Given the description of an element on the screen output the (x, y) to click on. 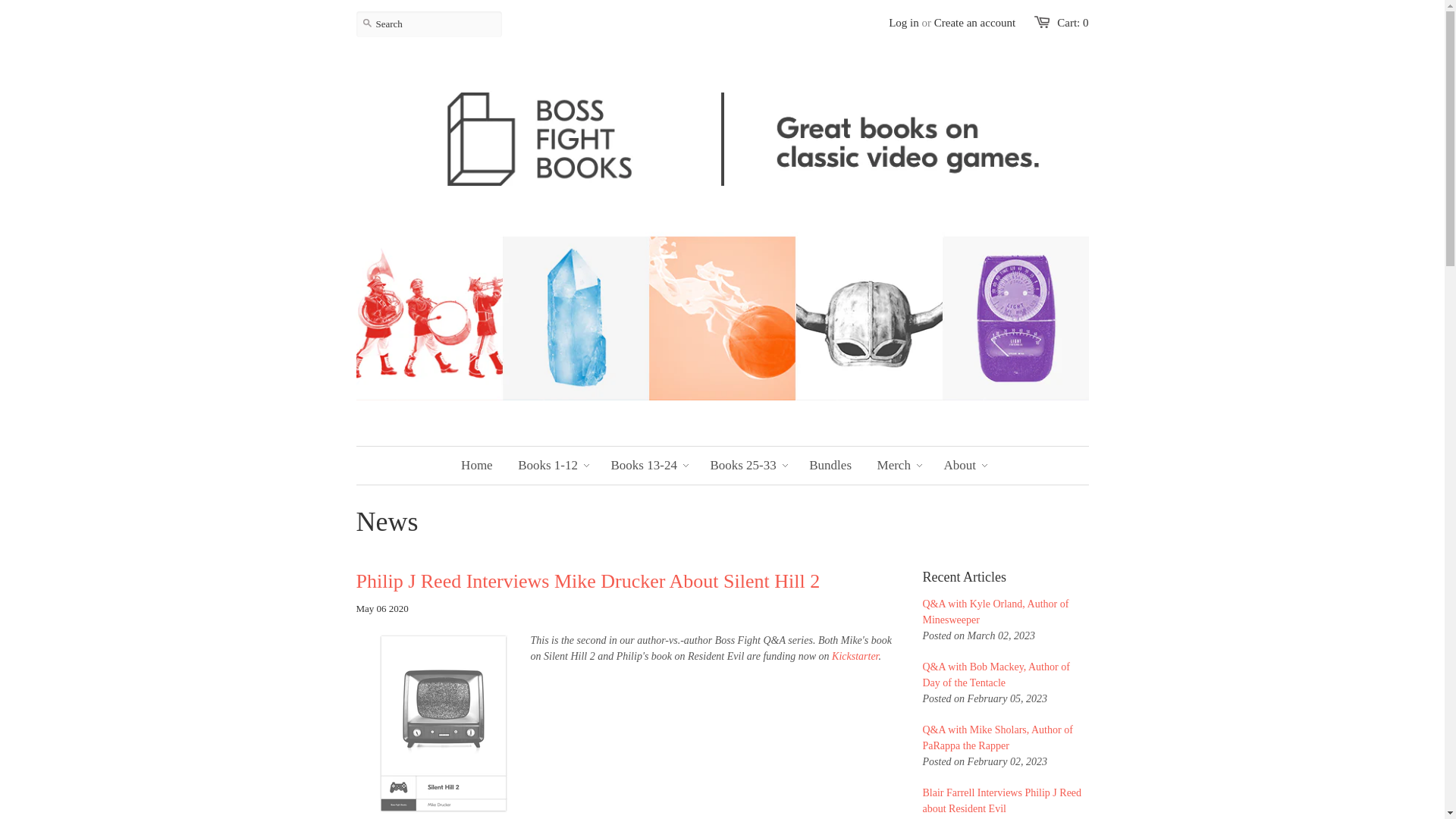
Books 13-24 (643, 465)
Cart: 0 (1072, 22)
Kickstarter Boss Fight Books Season 5 (854, 655)
Books 25-33 (742, 465)
Books 1-12 (547, 465)
Shopping Cart (1072, 22)
Log in (903, 22)
Create an account (974, 22)
Home (476, 465)
